Given the description of an element on the screen output the (x, y) to click on. 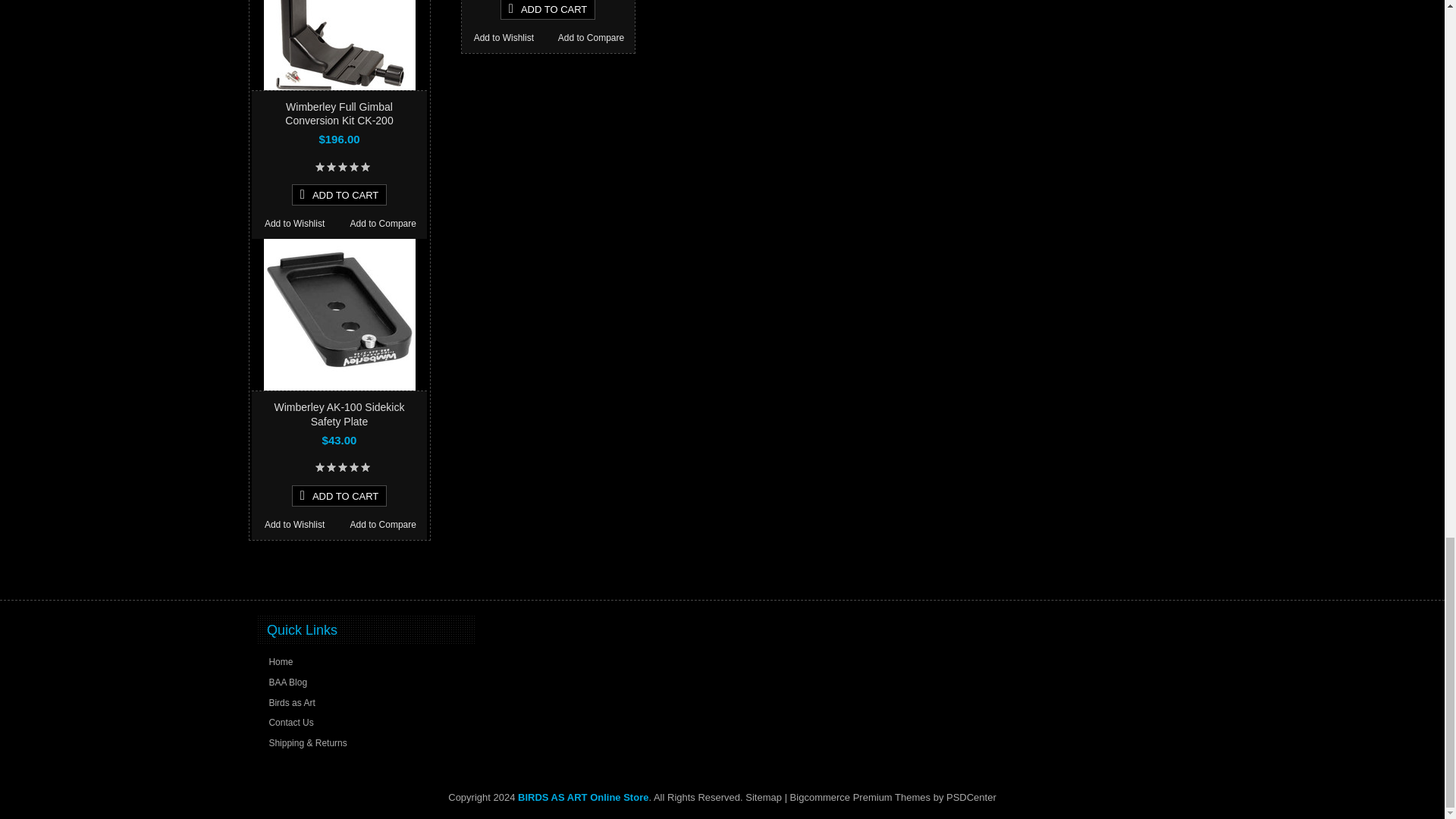
Scroll to Top (1176, 573)
